Given the description of an element on the screen output the (x, y) to click on. 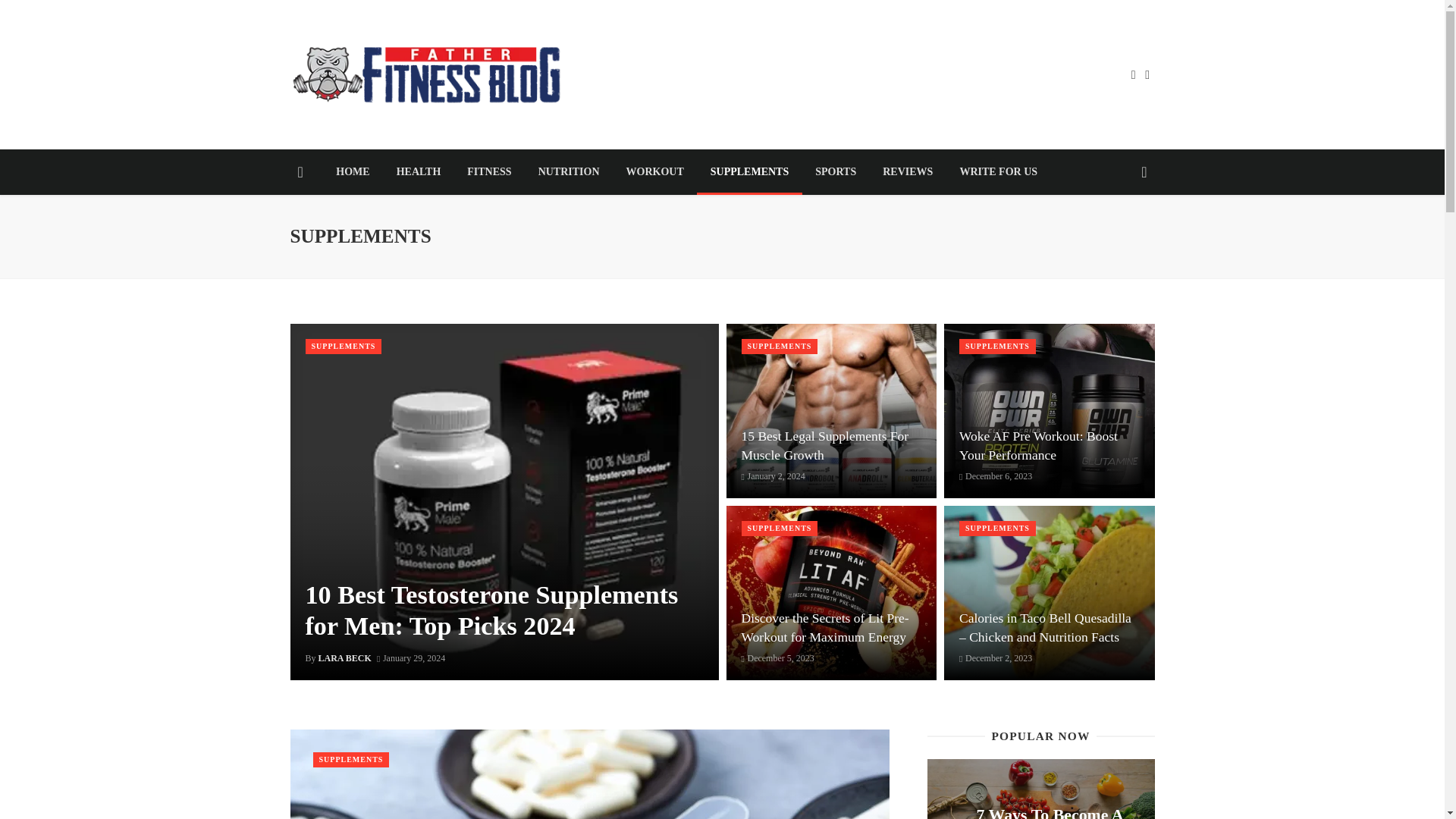
December 6, 2023 at 6:34 am (995, 475)
NUTRITION (568, 171)
SUPPLEMENTS (749, 171)
HOME (352, 171)
15 Best Legal Supplements For Muscle Growth (831, 445)
SUPPLEMENTS (779, 346)
Discover the Secrets of Lit Pre-Workout for Maximum Energy (831, 627)
WORKOUT (654, 171)
January 29, 2024 at 4:56 pm (411, 657)
SUPPLEMENTS (350, 759)
